Given the description of an element on the screen output the (x, y) to click on. 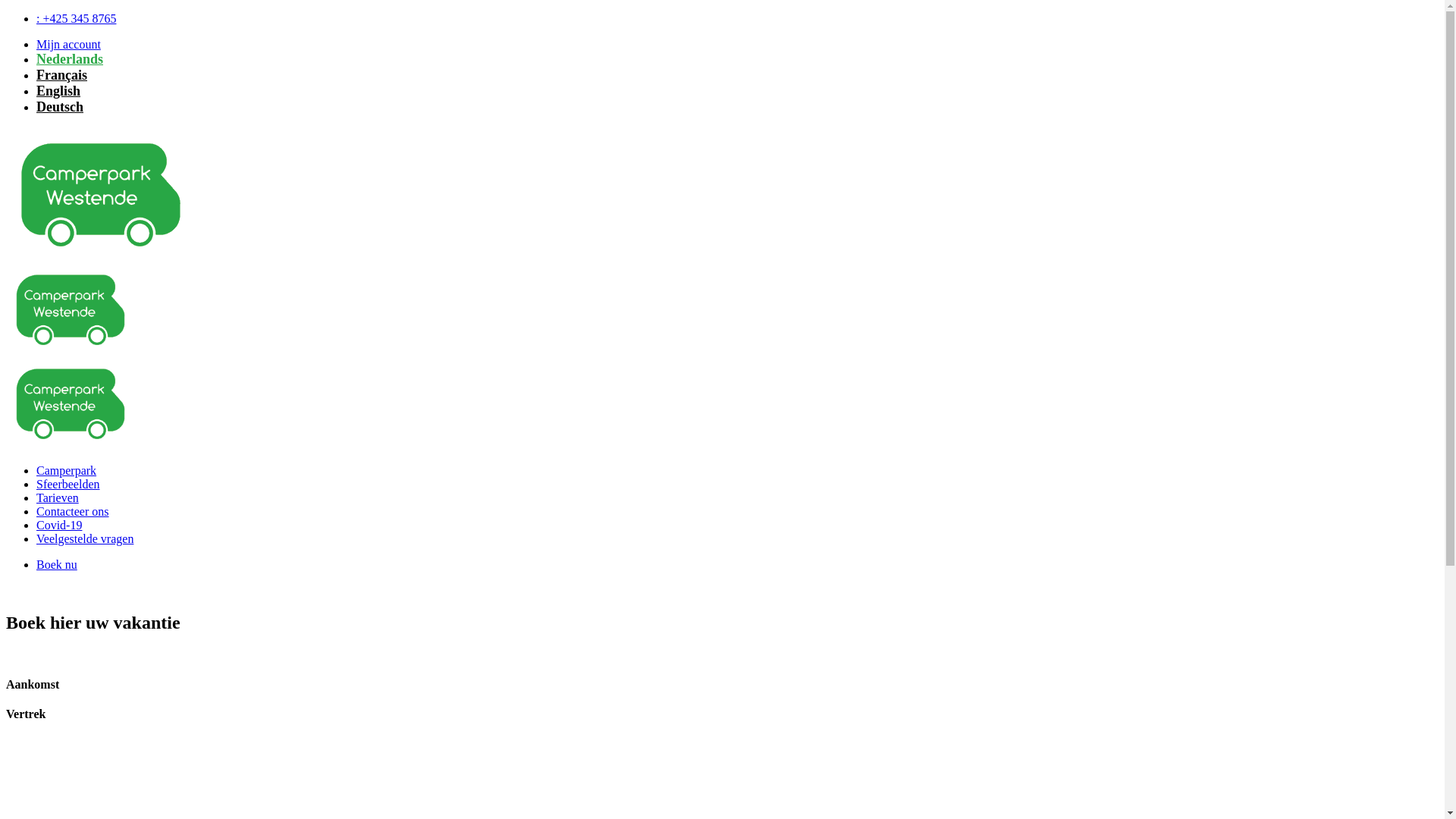
Nederlands Element type: text (69, 58)
Covid-19 Element type: text (58, 524)
Camperpark Element type: text (66, 470)
English Element type: text (58, 90)
Contacteer ons Element type: text (72, 511)
Sfeerbeelden Element type: text (68, 483)
Boek nu Element type: text (56, 564)
Deutsch Element type: text (59, 106)
Veelgestelde vragen Element type: text (84, 538)
Mijn account Element type: text (68, 43)
: +425 345 8765 Element type: text (76, 18)
Tarieven Element type: text (57, 497)
